Given the description of an element on the screen output the (x, y) to click on. 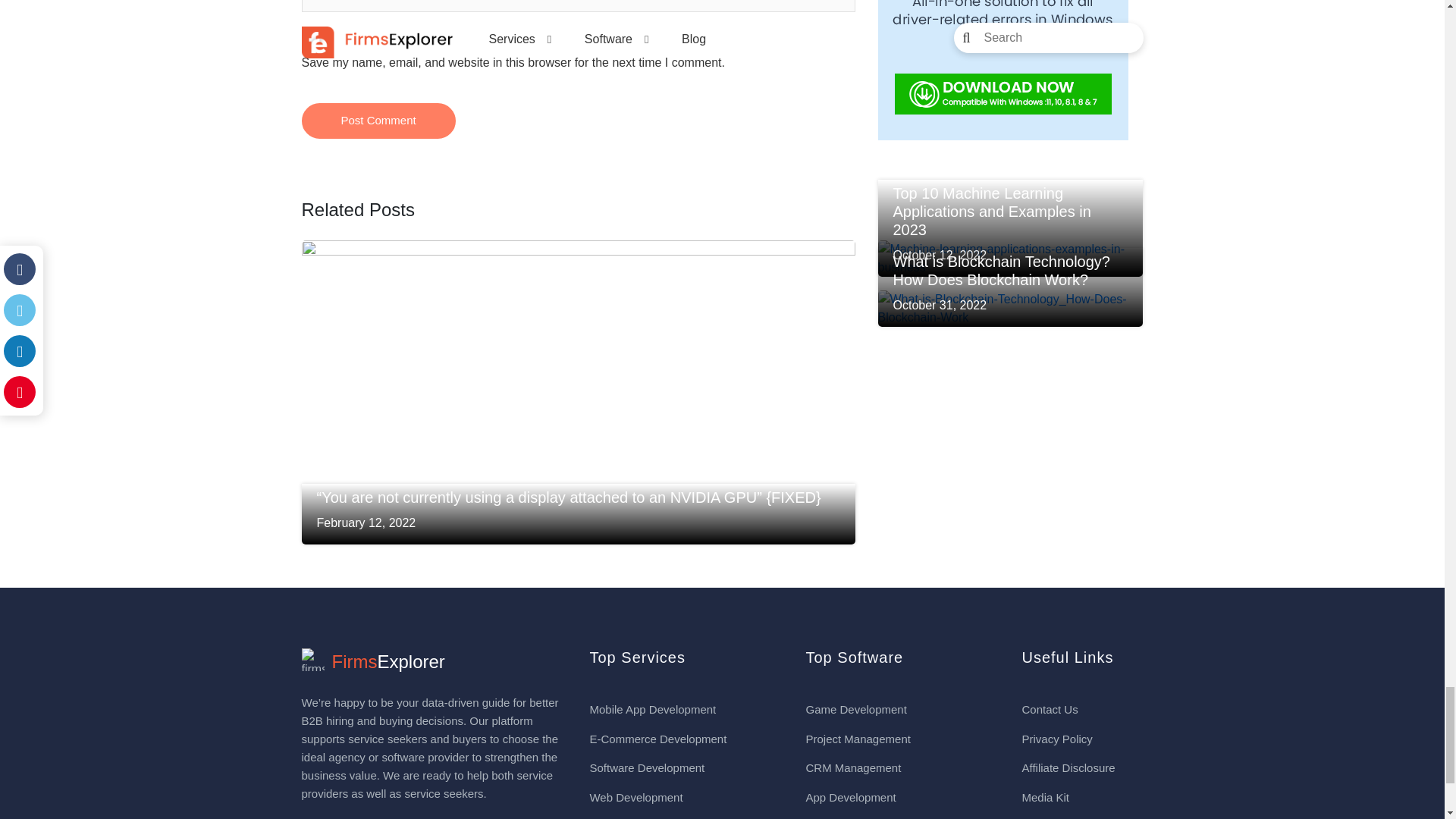
Post Comment (378, 120)
yes (306, 43)
